Given the description of an element on the screen output the (x, y) to click on. 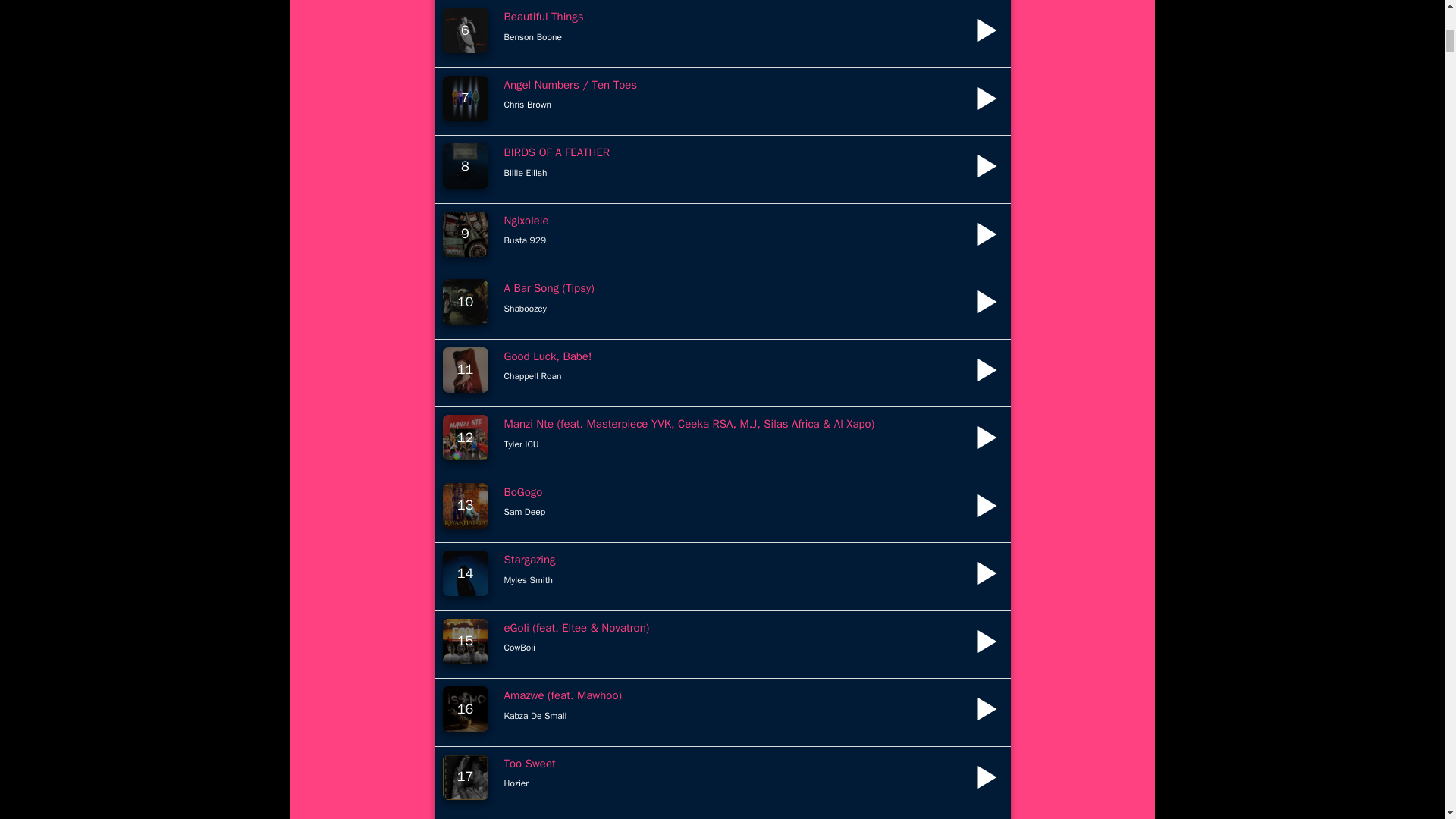
Chappell Roan (531, 376)
Ngixolele (525, 220)
Chris Brown (527, 104)
Shaboozey (524, 307)
BIRDS OF A FEATHER (556, 151)
Beautiful Things (543, 16)
Good Luck, Babe! (547, 355)
Benson Boone (531, 36)
Billie Eilish (525, 173)
Busta 929 (524, 240)
